Given the description of an element on the screen output the (x, y) to click on. 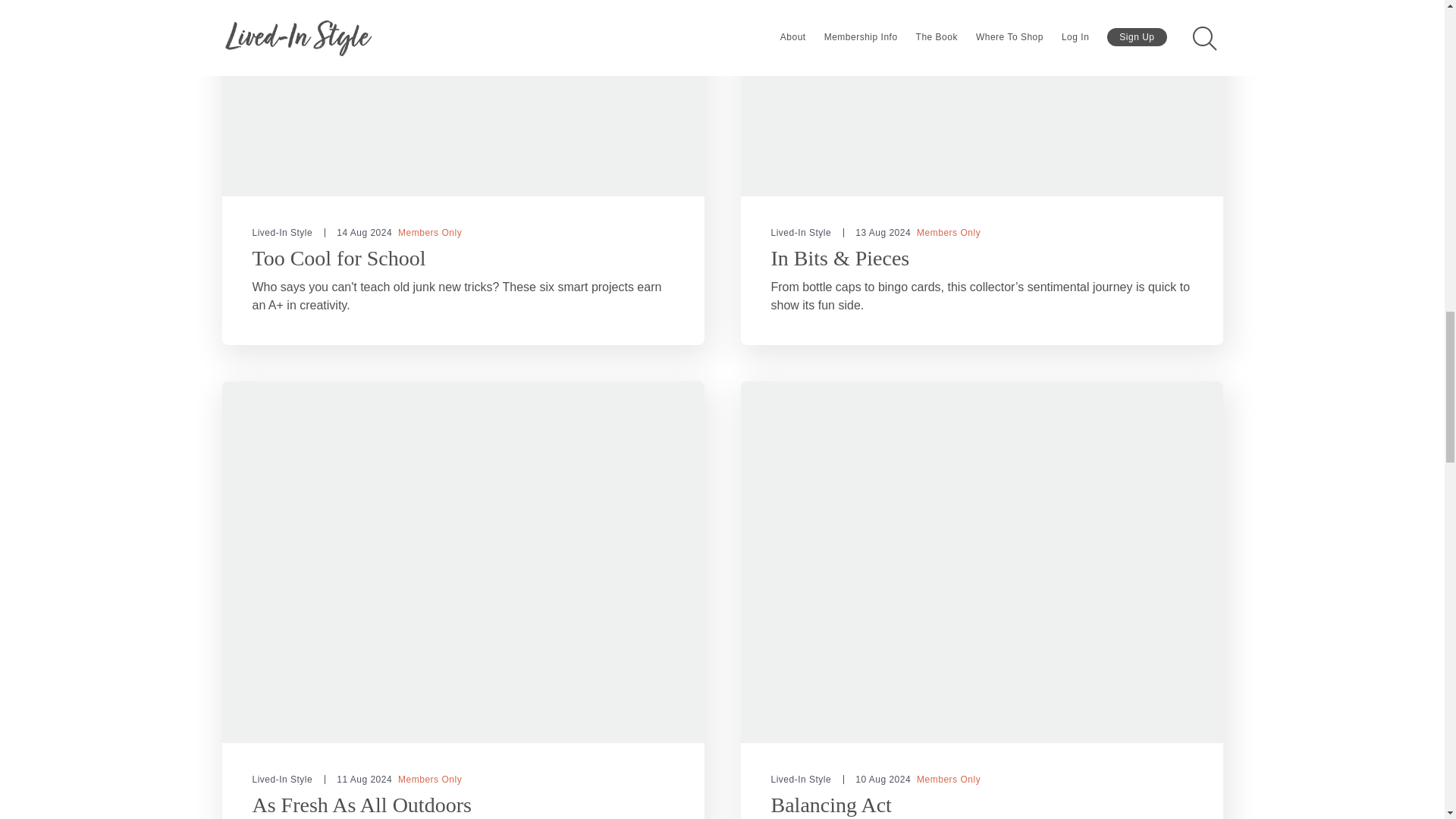
10 August 2024 (877, 778)
11 August 2024 (357, 778)
Lived-In Style (800, 232)
As Fresh As All Outdoors (360, 804)
14 August 2024 (357, 232)
Lived-In Style (282, 232)
Too Cool for School (338, 258)
Lived-In Style (282, 779)
13 August 2024 (877, 232)
